Given the description of an element on the screen output the (x, y) to click on. 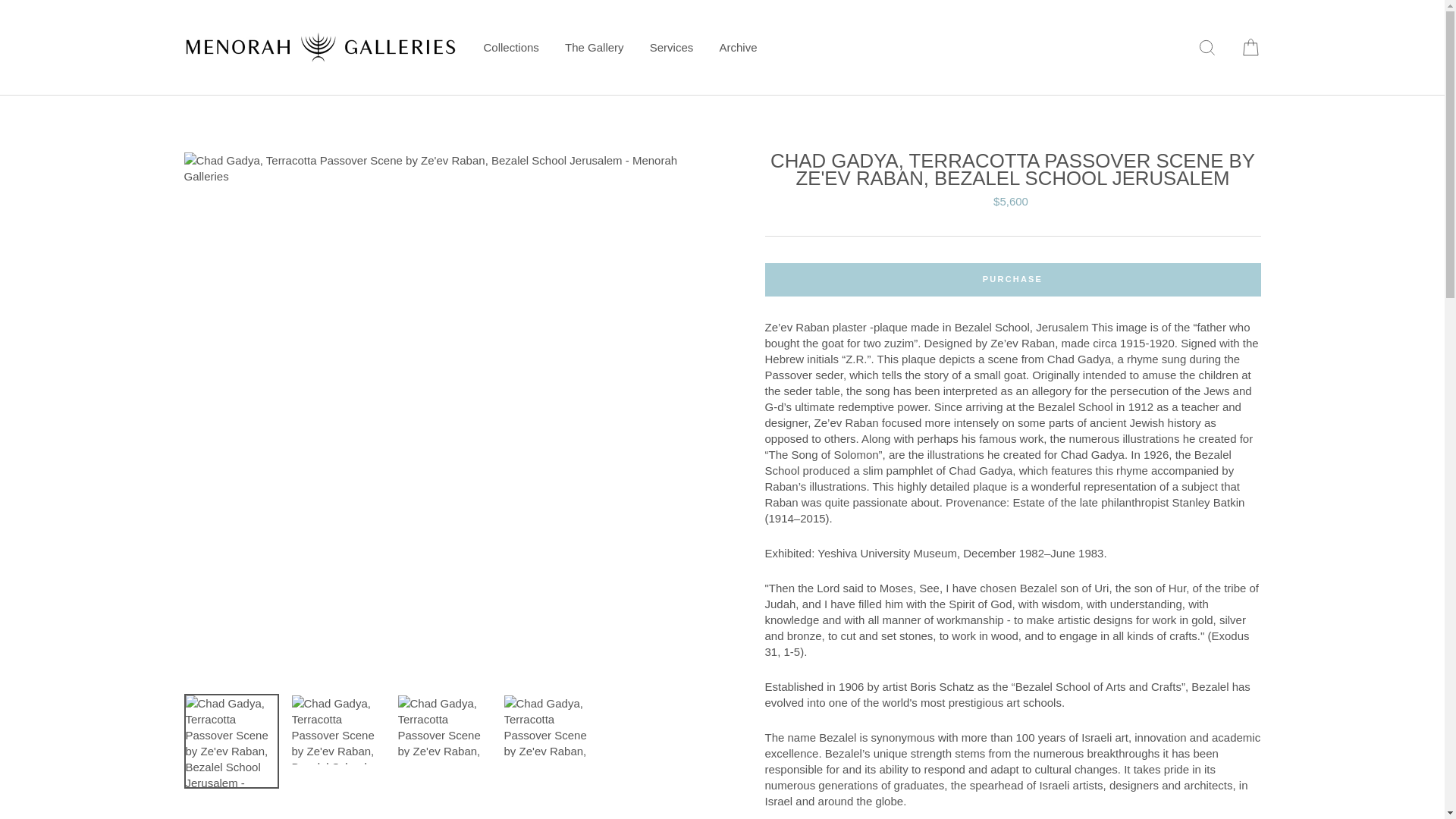
Collections (510, 46)
The Gallery (593, 46)
Archive (737, 46)
Services (671, 46)
